Given the description of an element on the screen output the (x, y) to click on. 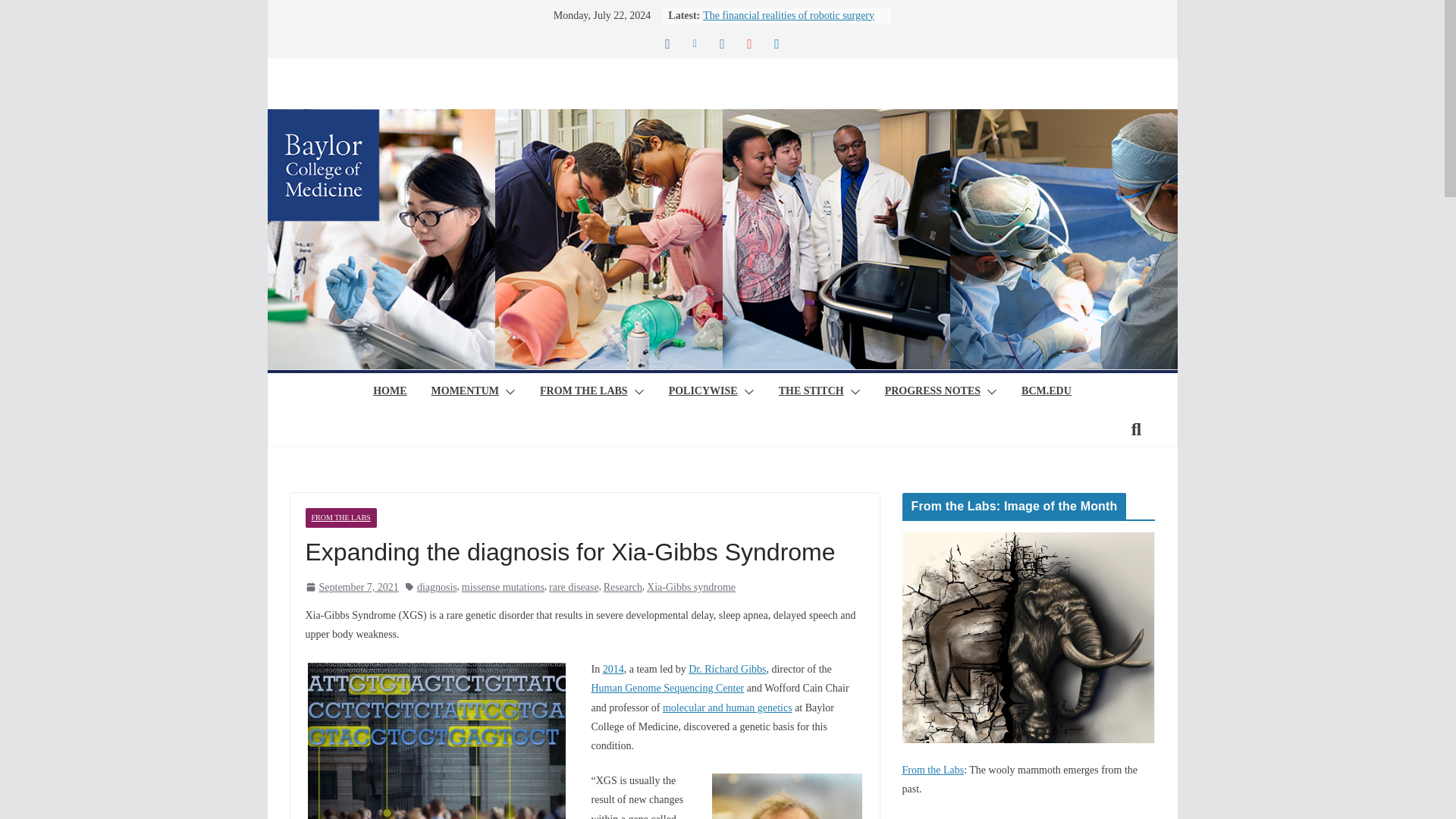
HOME (389, 391)
FROM THE LABS (583, 391)
MOMENTUM (464, 391)
BCM.EDU (1046, 391)
PROGRESS NOTES (932, 391)
POLICYWISE (703, 391)
12:08 pm (350, 587)
THE STITCH (811, 391)
